Given the description of an element on the screen output the (x, y) to click on. 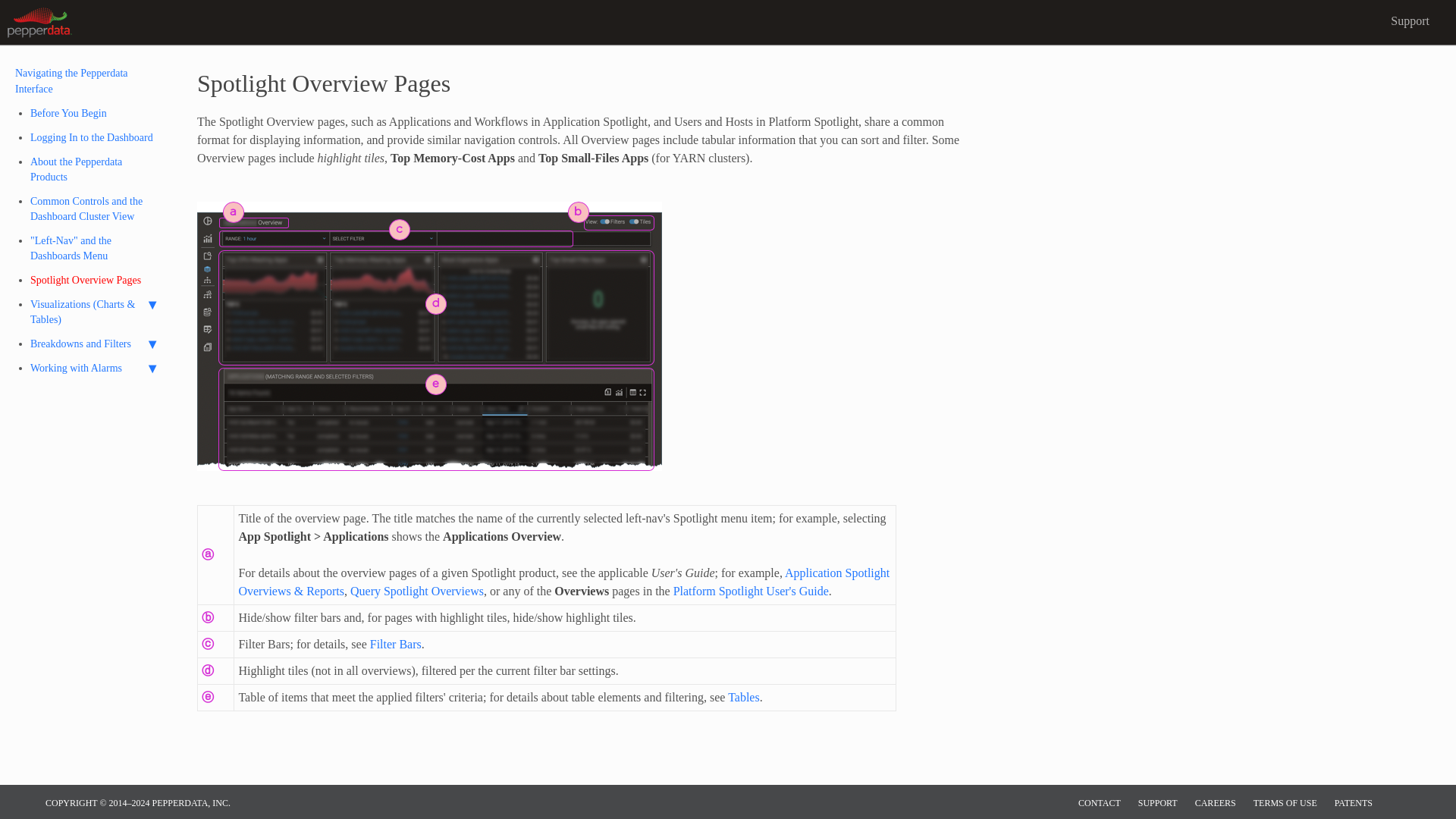
Logging In to the Dashboard (96, 137)
CAREERS (1215, 802)
SUPPORT (1157, 802)
About the Pepperdata Products (96, 169)
Filter Bars (395, 644)
TERMS OF USE (1285, 802)
PATENTS (1354, 802)
Query Spotlight Overviews (416, 590)
Tables (744, 697)
Spotlight Overview Pages (96, 280)
Navigating the Pepperdata Interface (71, 81)
Platform Spotlight User's Guide (750, 590)
Working with Alarms (96, 368)
Pepperdata Help: Home (39, 21)
"Left-Nav" and the Dashboards Menu (96, 248)
